Given the description of an element on the screen output the (x, y) to click on. 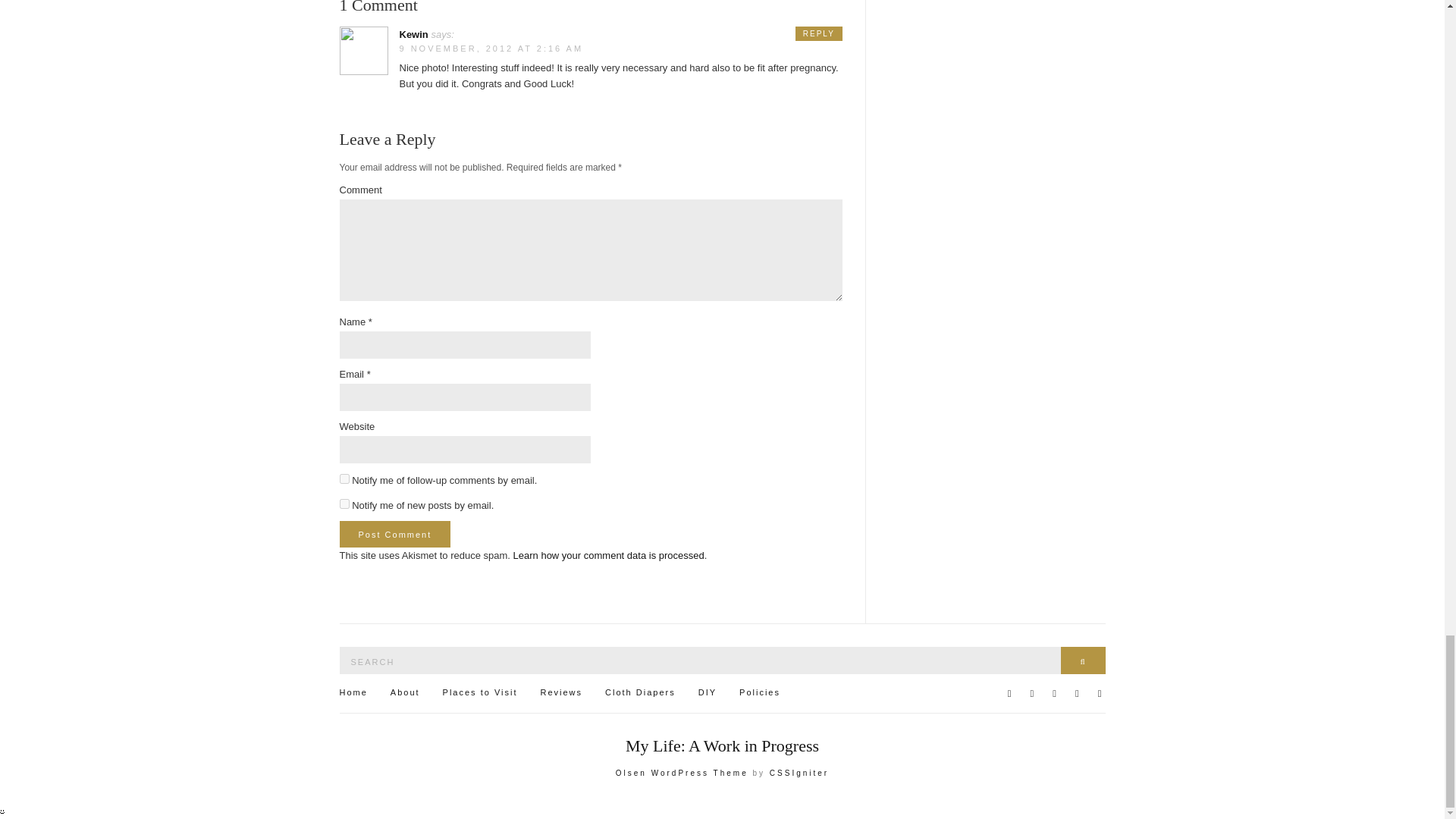
Blogging theme for WordPress (681, 773)
subscribe (344, 479)
Post Comment (395, 533)
subscribe (344, 503)
